Given the description of an element on the screen output the (x, y) to click on. 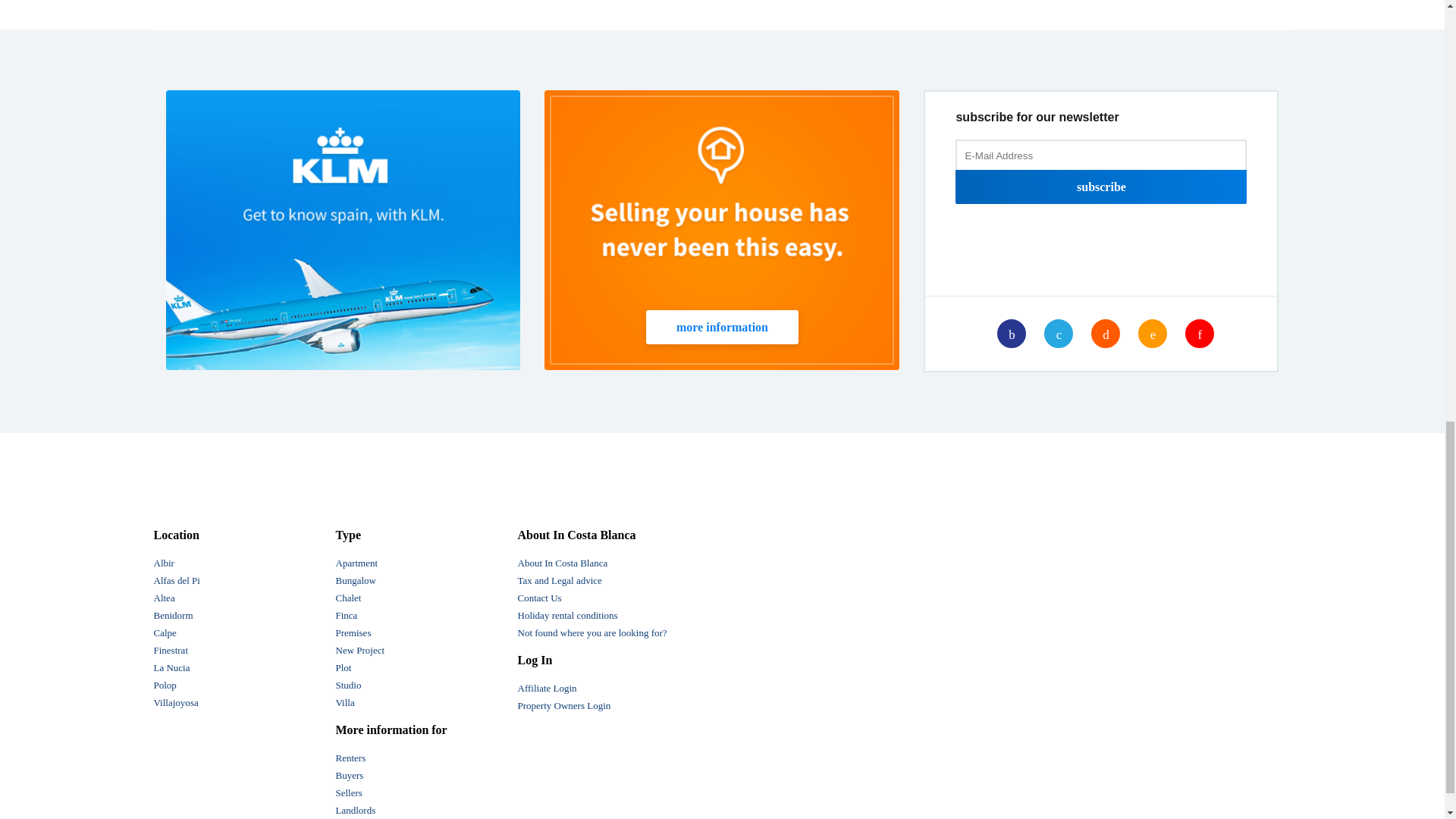
Subscribe (1100, 186)
